Given the description of an element on the screen output the (x, y) to click on. 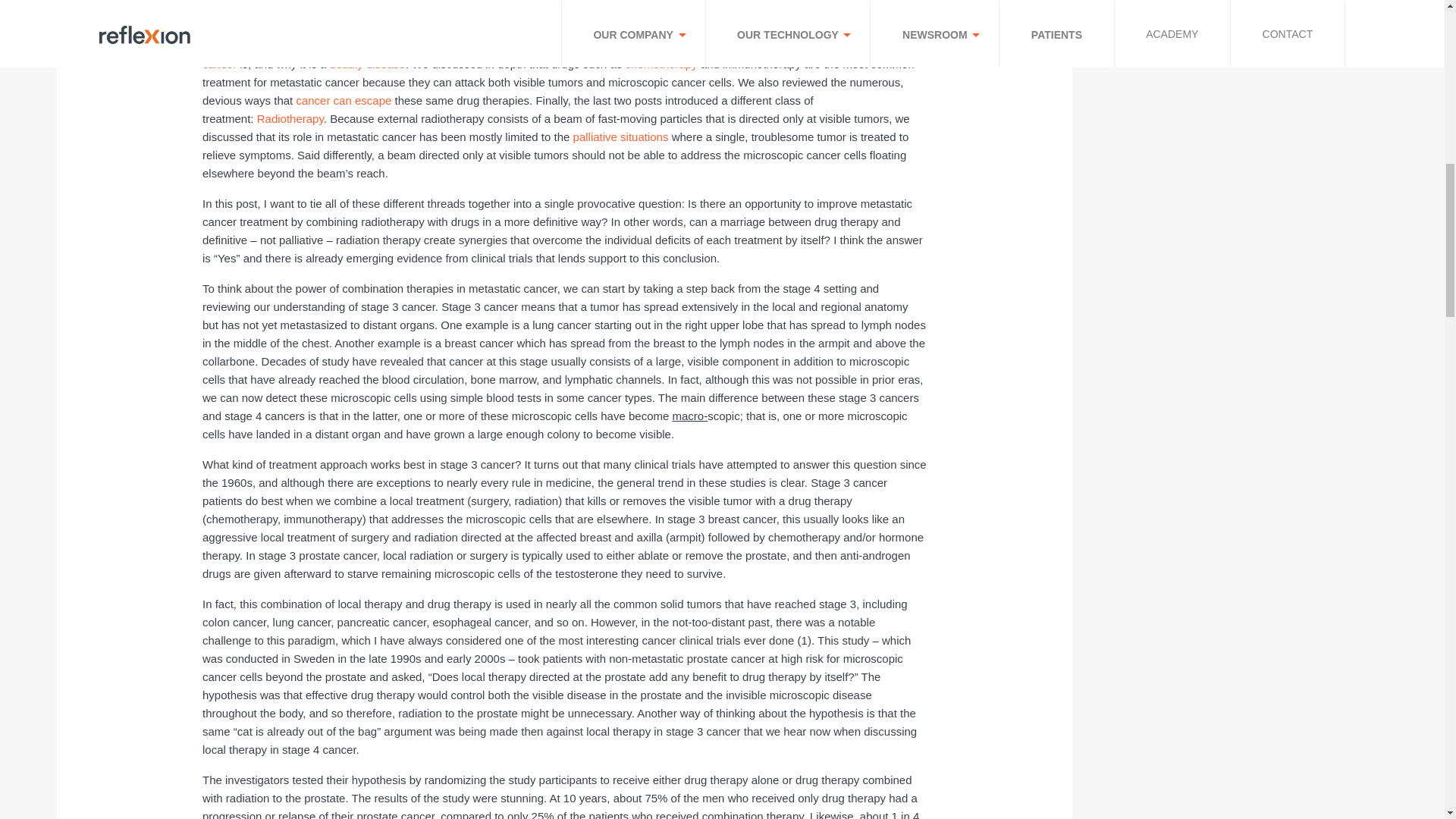
chemotherapy (661, 63)
palliative situations (620, 136)
cancer can escape (343, 100)
deadly disease (368, 63)
metastatic cancer (561, 54)
Radiotherapy (290, 118)
